Given the description of an element on the screen output the (x, y) to click on. 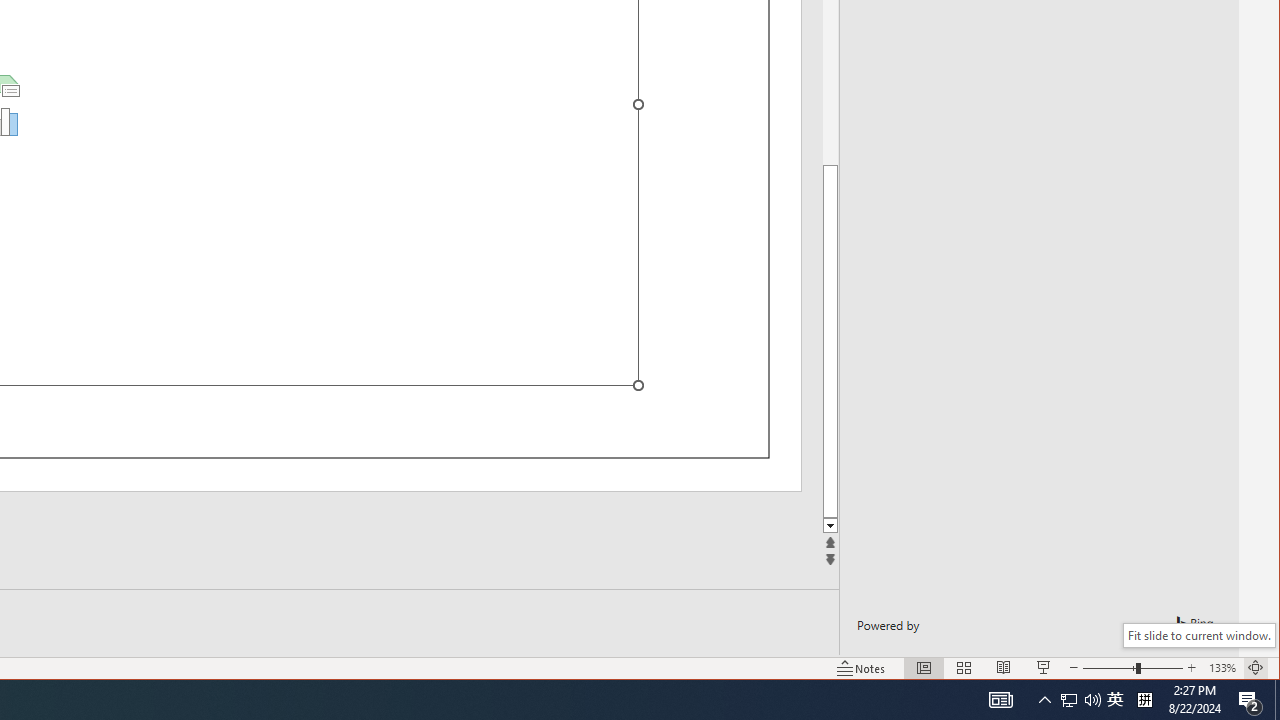
Zoom 133% (1222, 668)
